Given the description of an element on the screen output the (x, y) to click on. 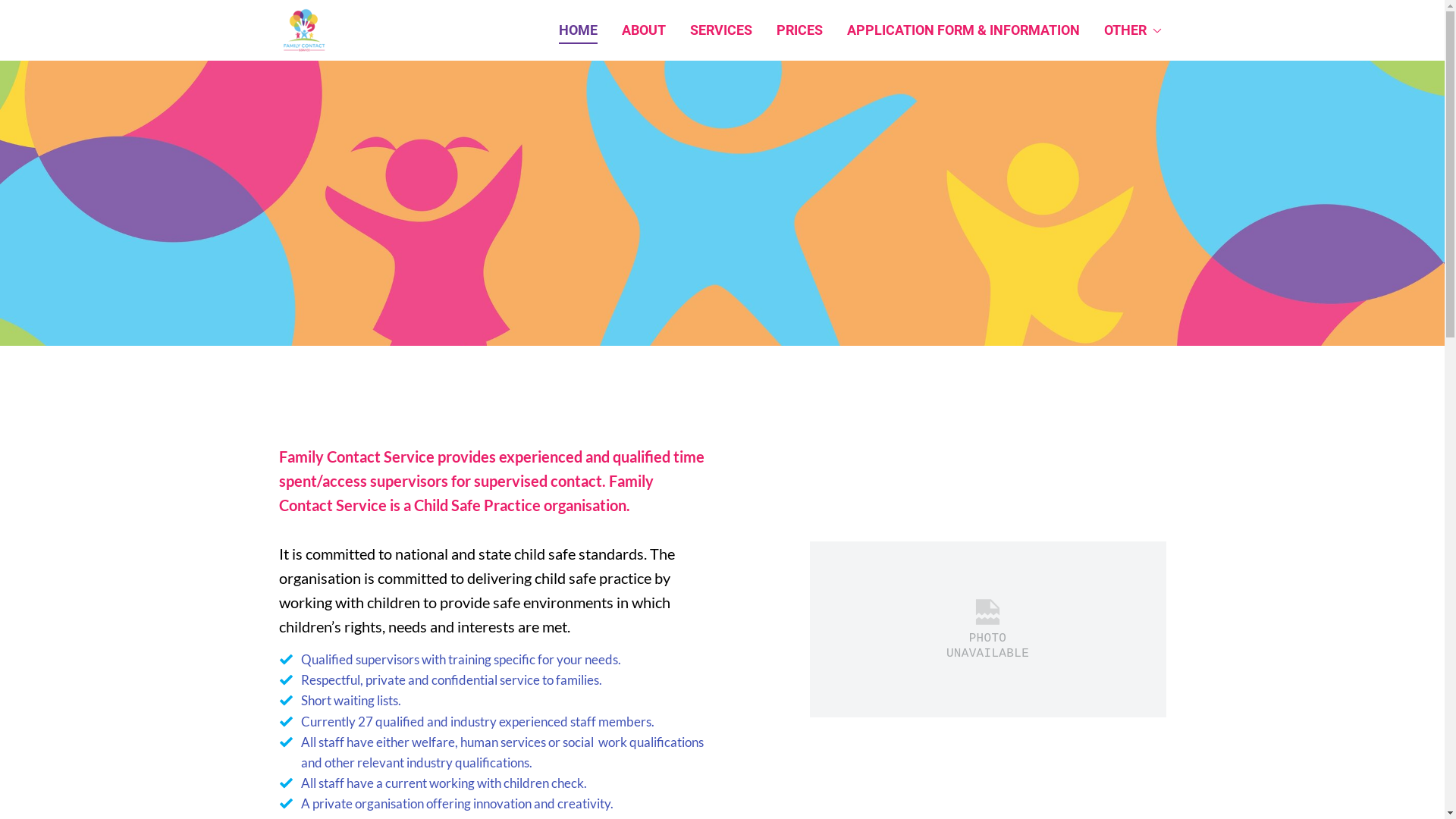
PRICES Element type: text (798, 29)
HOME Element type: text (577, 29)
OTHER Element type: text (1130, 29)
ABOUT Element type: text (642, 29)
APPLICATION FORM & INFORMATION Element type: text (963, 29)
SERVICES Element type: text (719, 29)
